Given the description of an element on the screen output the (x, y) to click on. 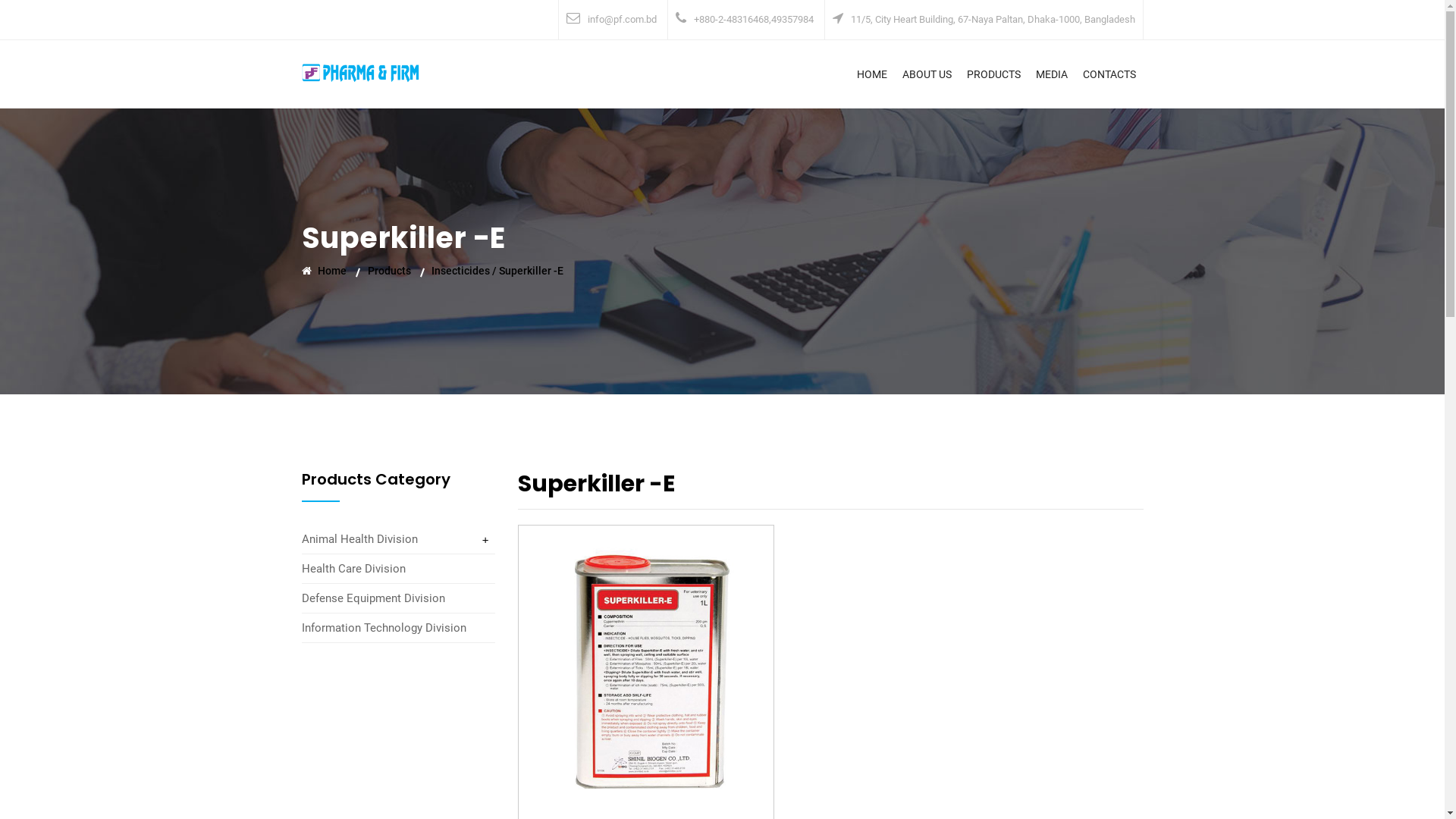
Home Element type: text (332, 270)
Health Care Division Element type: text (353, 568)
+880-2-48316468,49357984 Element type: text (752, 19)
PRODUCTS Element type: text (992, 73)
info@pf.com.bd Element type: text (620, 19)
CONTACTS Element type: text (1108, 73)
HOME Element type: text (871, 73)
Information Technology Division Element type: text (383, 627)
ABOUT US Element type: text (926, 73)
Animal Health Division Element type: text (359, 539)
Defense Equipment Division Element type: text (373, 598)
Products Element type: text (397, 270)
MEDIA Element type: text (1051, 73)
